Given the description of an element on the screen output the (x, y) to click on. 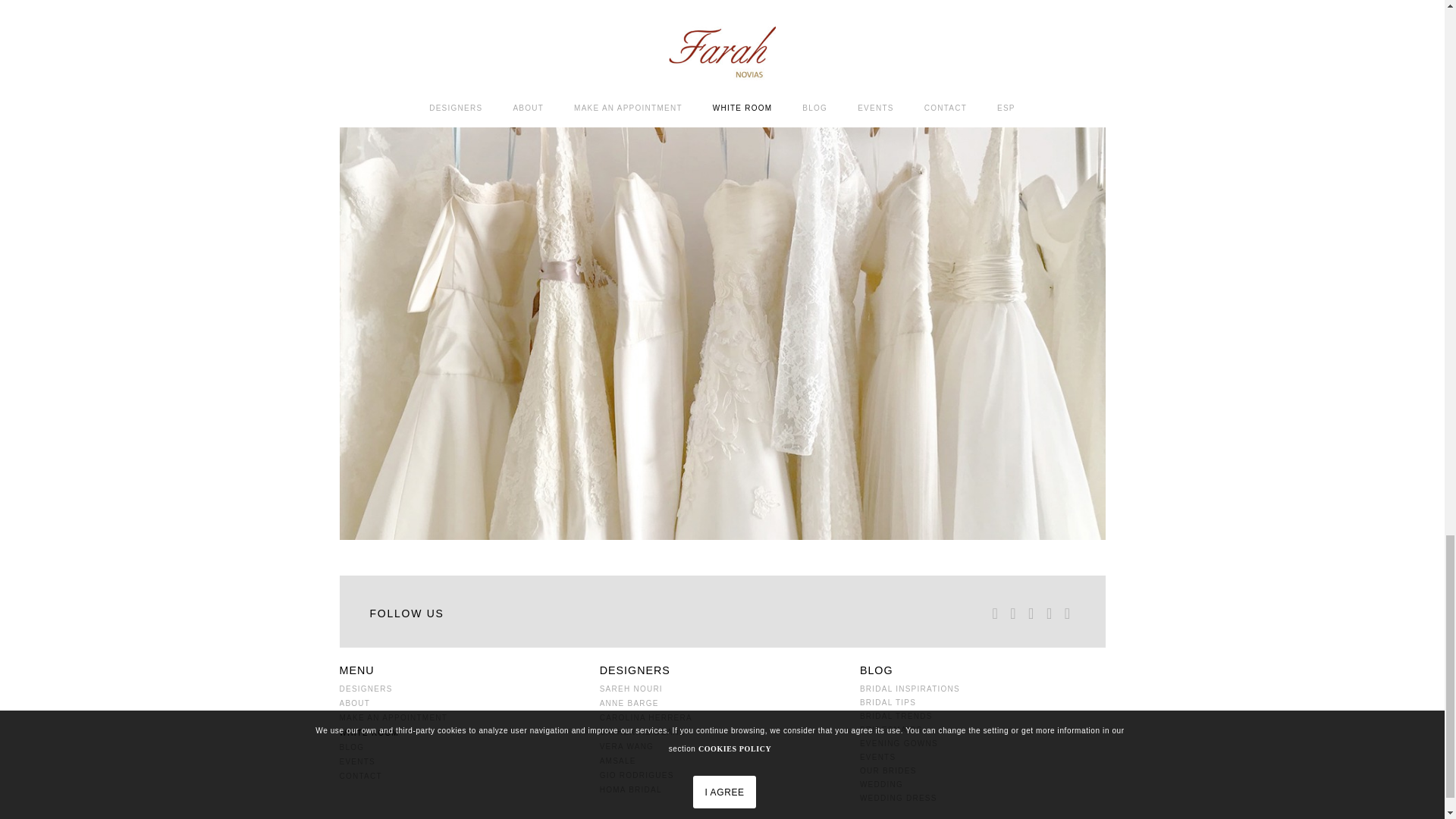
EVENTS (462, 761)
WHITE ROOM (462, 732)
ABOUT (462, 703)
CONTACT (462, 776)
DESIGNERS (462, 688)
BLOG (462, 747)
MAKE AN APPOINTMENT (462, 717)
